Given the description of an element on the screen output the (x, y) to click on. 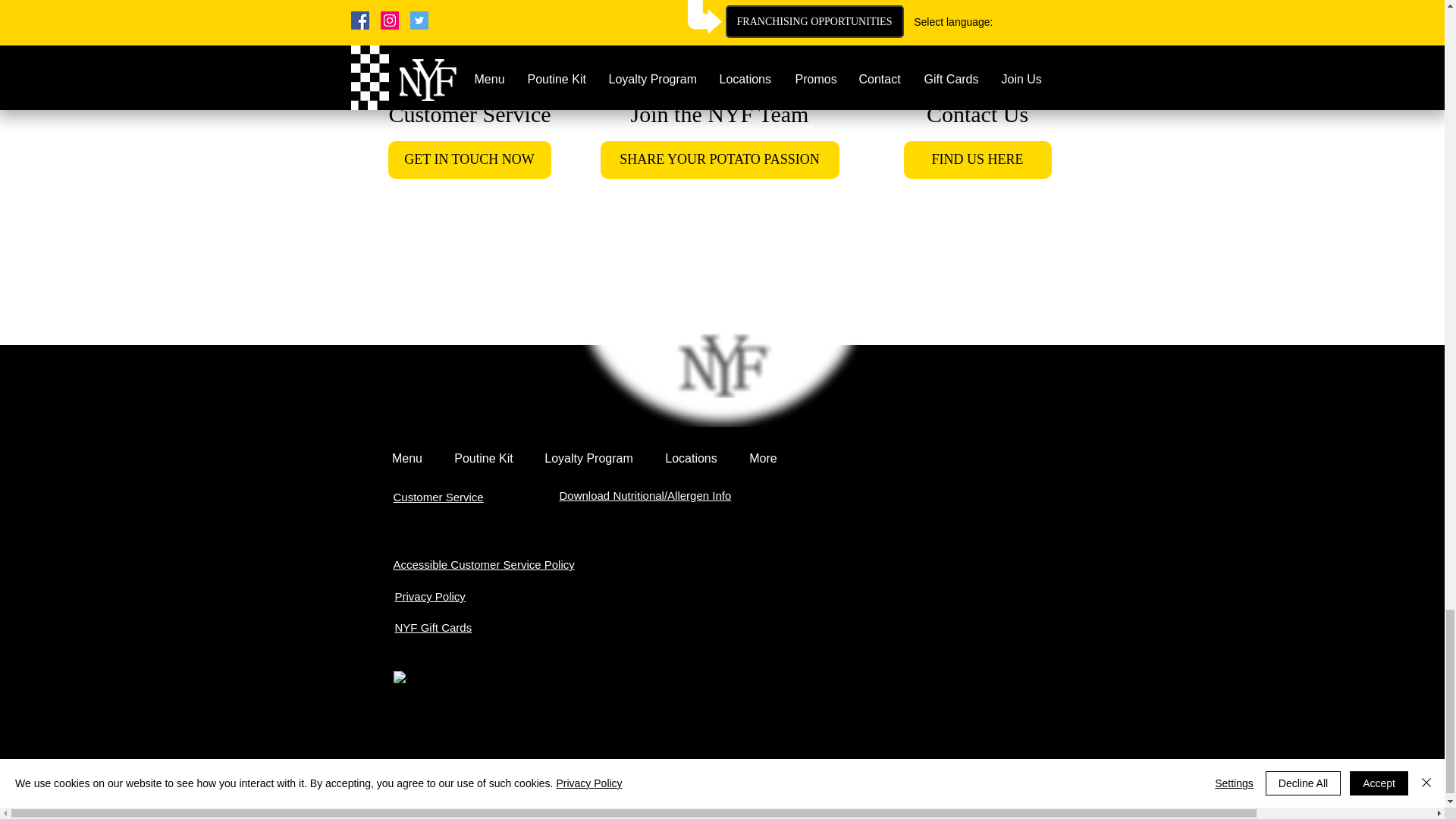
FIND US HERE (977, 159)
SHARE YOUR POTATO PASSION (719, 159)
GET IN TOUCH NOW (469, 159)
